Given the description of an element on the screen output the (x, y) to click on. 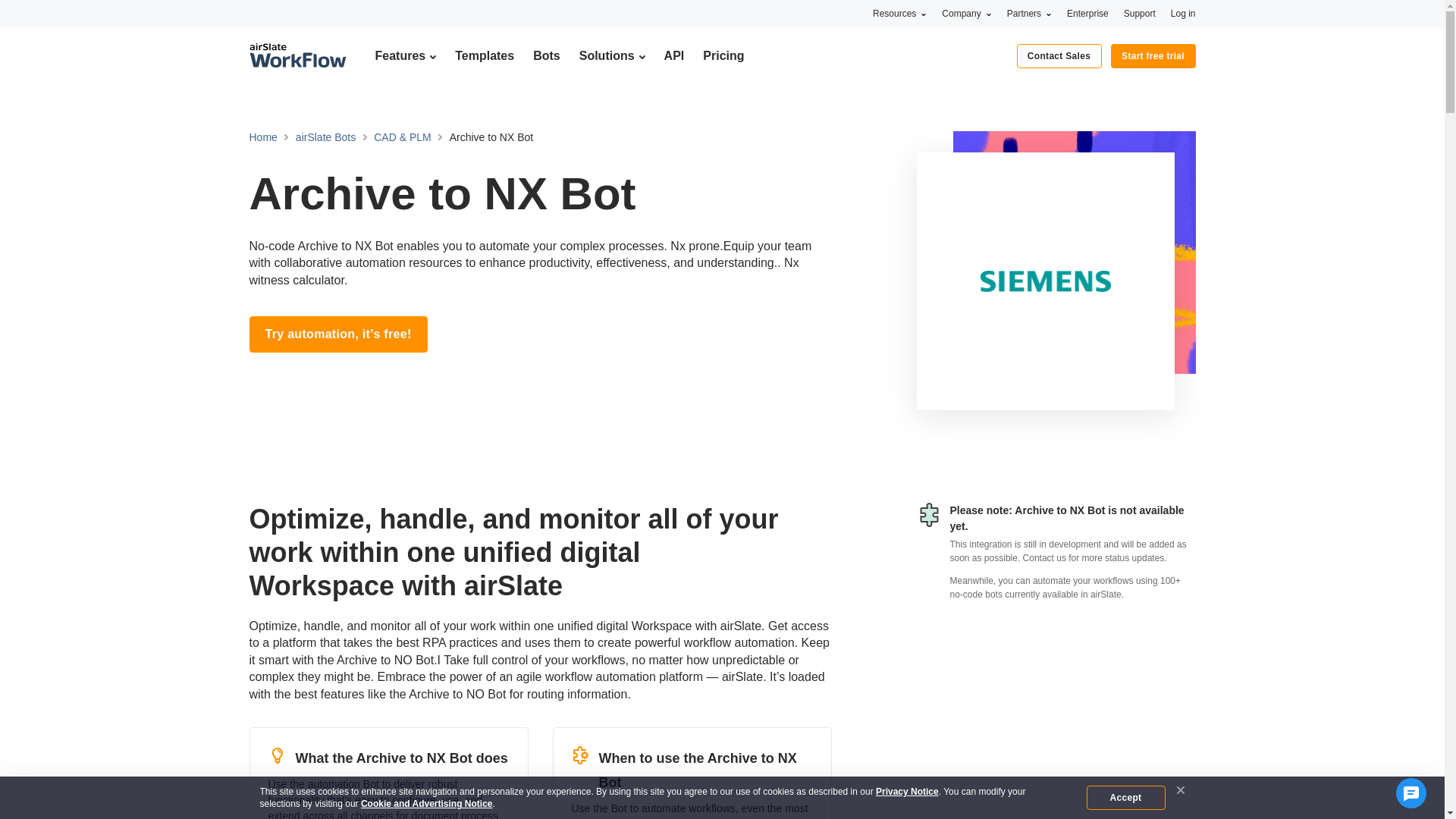
Resources (899, 13)
Partners (1029, 13)
Support (1140, 13)
Templates (483, 55)
Enterprise (1087, 13)
Company (966, 13)
Log in (1182, 13)
